Given the description of an element on the screen output the (x, y) to click on. 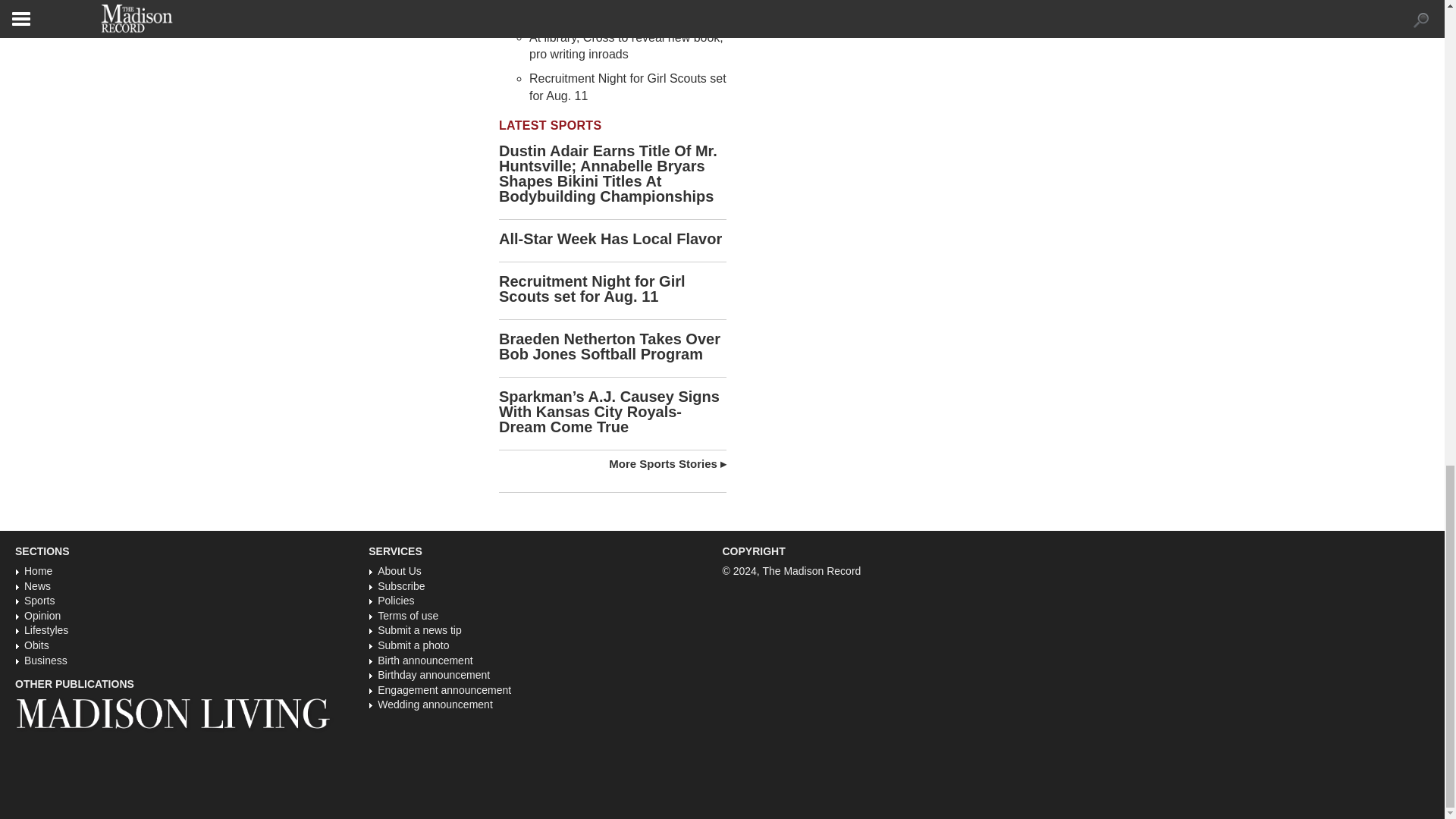
At library, Cross to reveal new book, pro writing inroads (626, 45)
Aubree White honored as Esports Coach of the Year (620, 9)
